Given the description of an element on the screen output the (x, y) to click on. 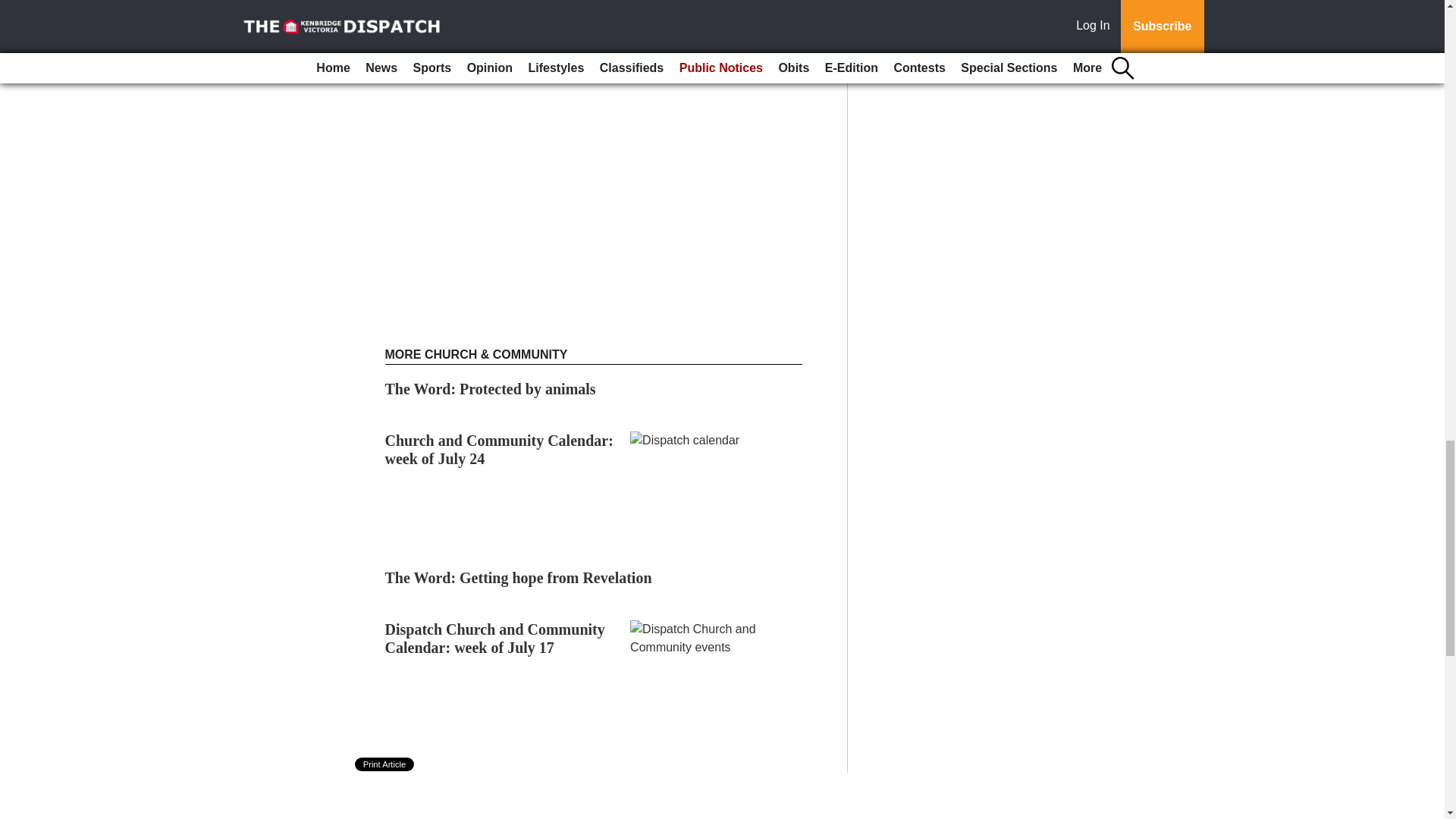
The Word: Getting hope from Revelation (518, 577)
The Word: Protected by animals (490, 388)
Church and Community Calendar: week of July 24 (498, 449)
Church and Community Calendar: week of July 24 (498, 449)
Dispatch Church and Community Calendar: week of July 17 (495, 638)
Print Article (384, 764)
The Word: Protected by animals (490, 388)
Dispatch Church and Community Calendar: week of July 17 (495, 638)
The Word: Getting hope from Revelation (518, 577)
